Given the description of an element on the screen output the (x, y) to click on. 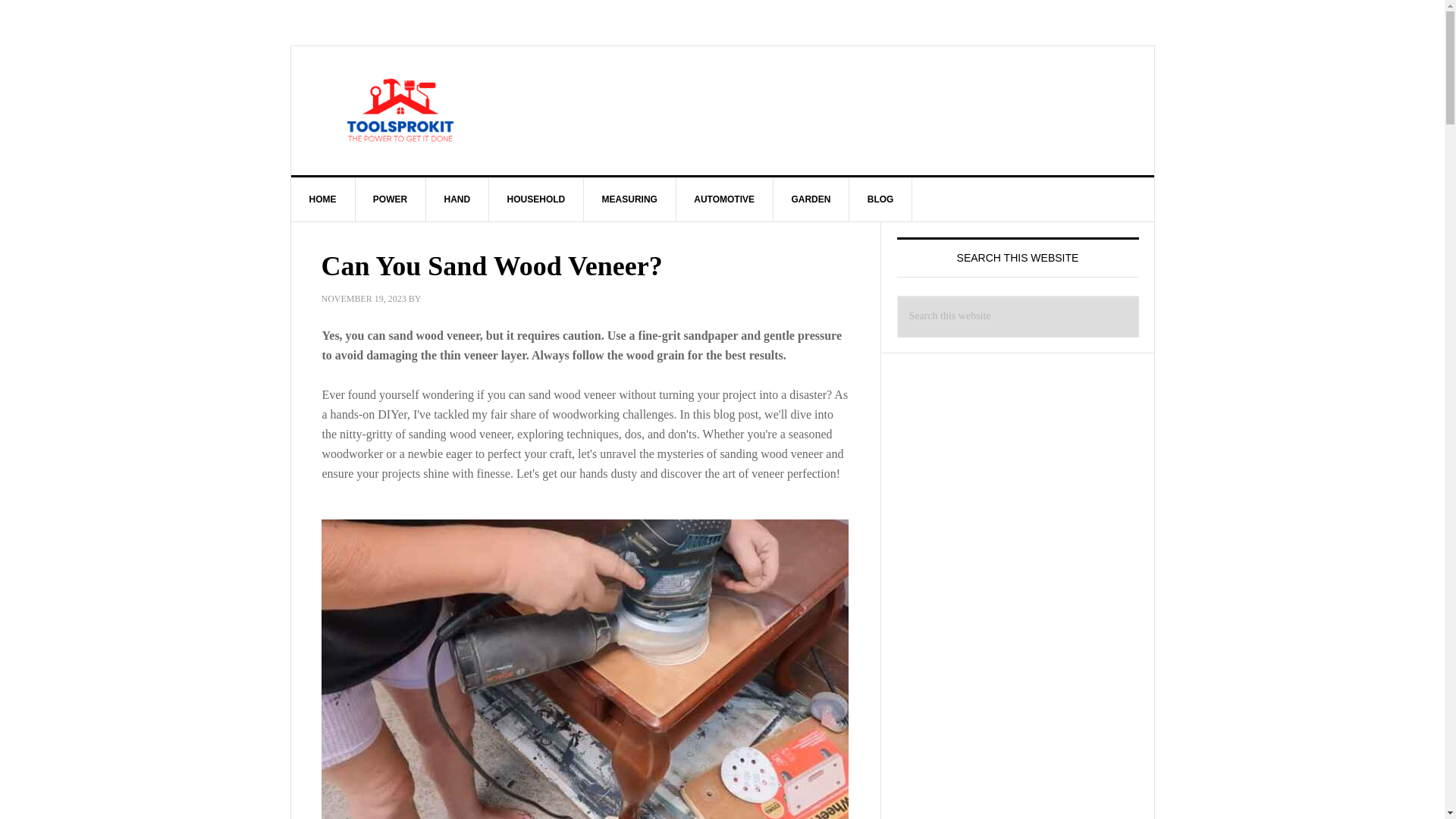
HOUSEHOLD (537, 199)
POWER (390, 199)
HAND (457, 199)
MEASURING (630, 199)
HOME (323, 199)
BLOG (880, 199)
AUTOMOTIVE (724, 199)
GARDEN (810, 199)
